Given the description of an element on the screen output the (x, y) to click on. 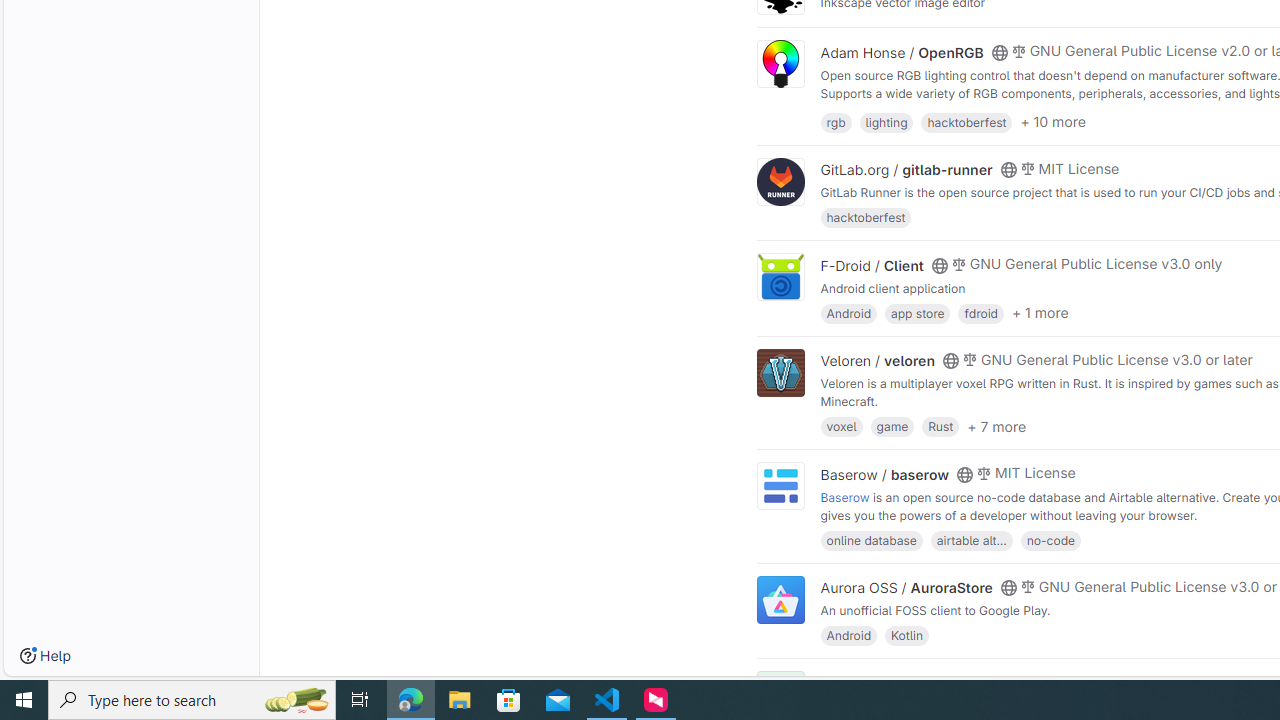
app store (917, 312)
Class: project (780, 599)
Baserow / baserow (884, 474)
Baserow (845, 496)
Veloren / veloren (877, 361)
Class: s14 gl-mr-2 (1018, 681)
game (892, 426)
Android (848, 634)
no-code (1050, 539)
Adam Honse / OpenRGB (902, 52)
F-Droid / Client (872, 265)
+ 1 more (1039, 313)
+ 10 more (1053, 121)
lighting (886, 120)
Rust (940, 426)
